Given the description of an element on the screen output the (x, y) to click on. 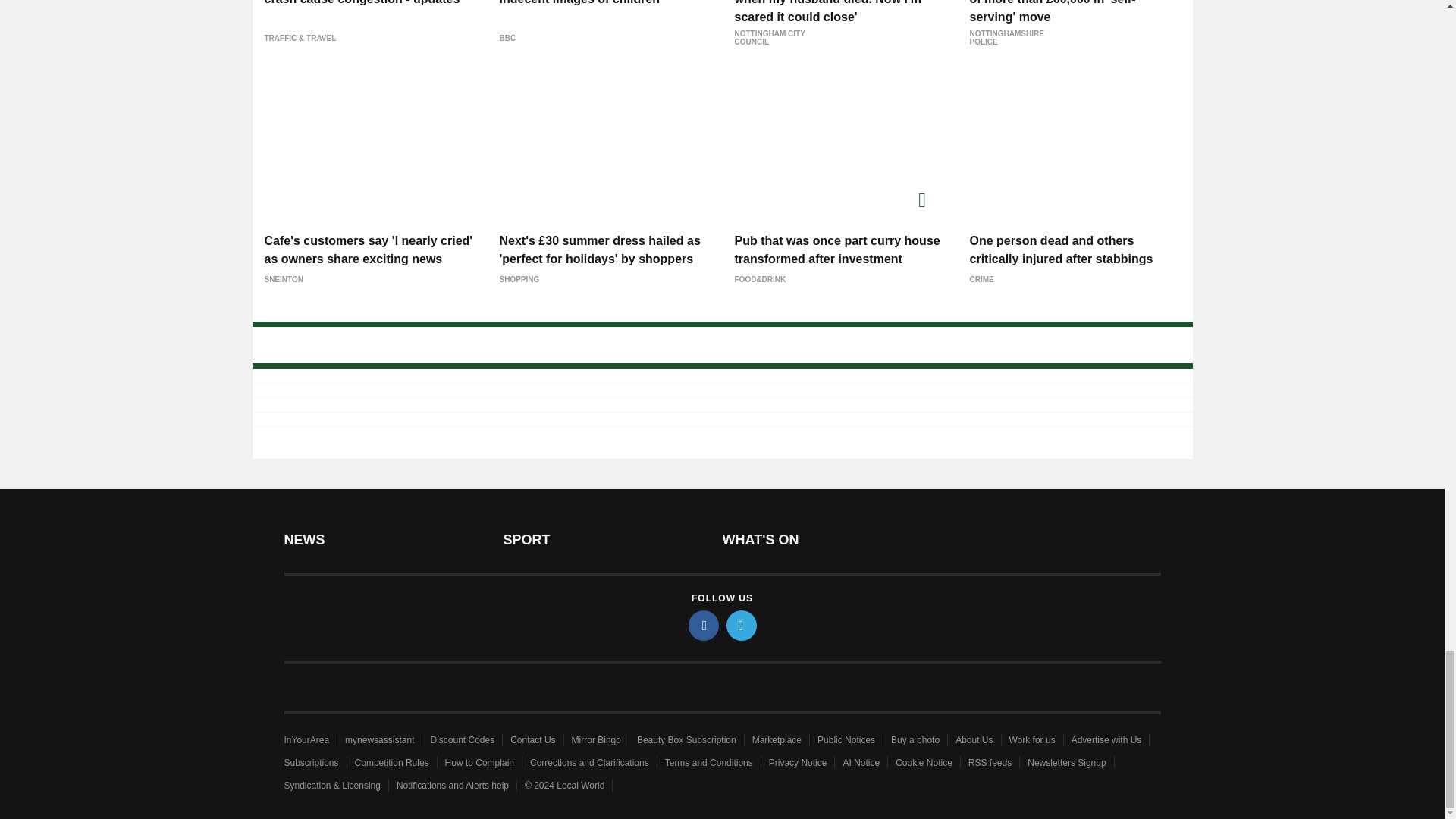
twitter (741, 625)
facebook (703, 625)
